Given the description of an element on the screen output the (x, y) to click on. 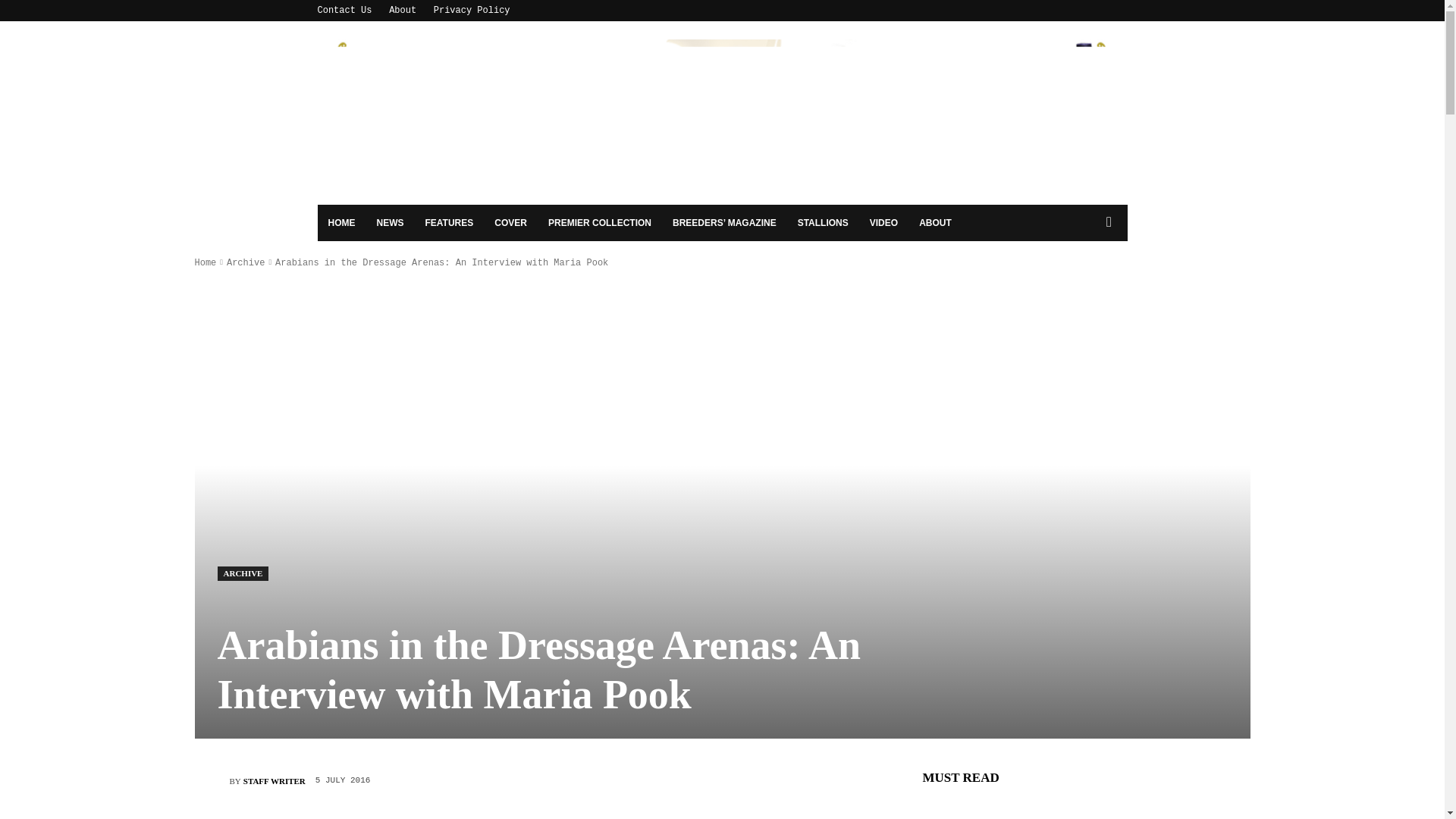
Privacy Policy (472, 9)
FEATURES (448, 222)
View all posts in Archive (245, 262)
Staff Writer (210, 780)
COVER (510, 222)
About (402, 9)
Contact Us (344, 9)
HOME (341, 222)
NEWS (389, 222)
